Given the description of an element on the screen output the (x, y) to click on. 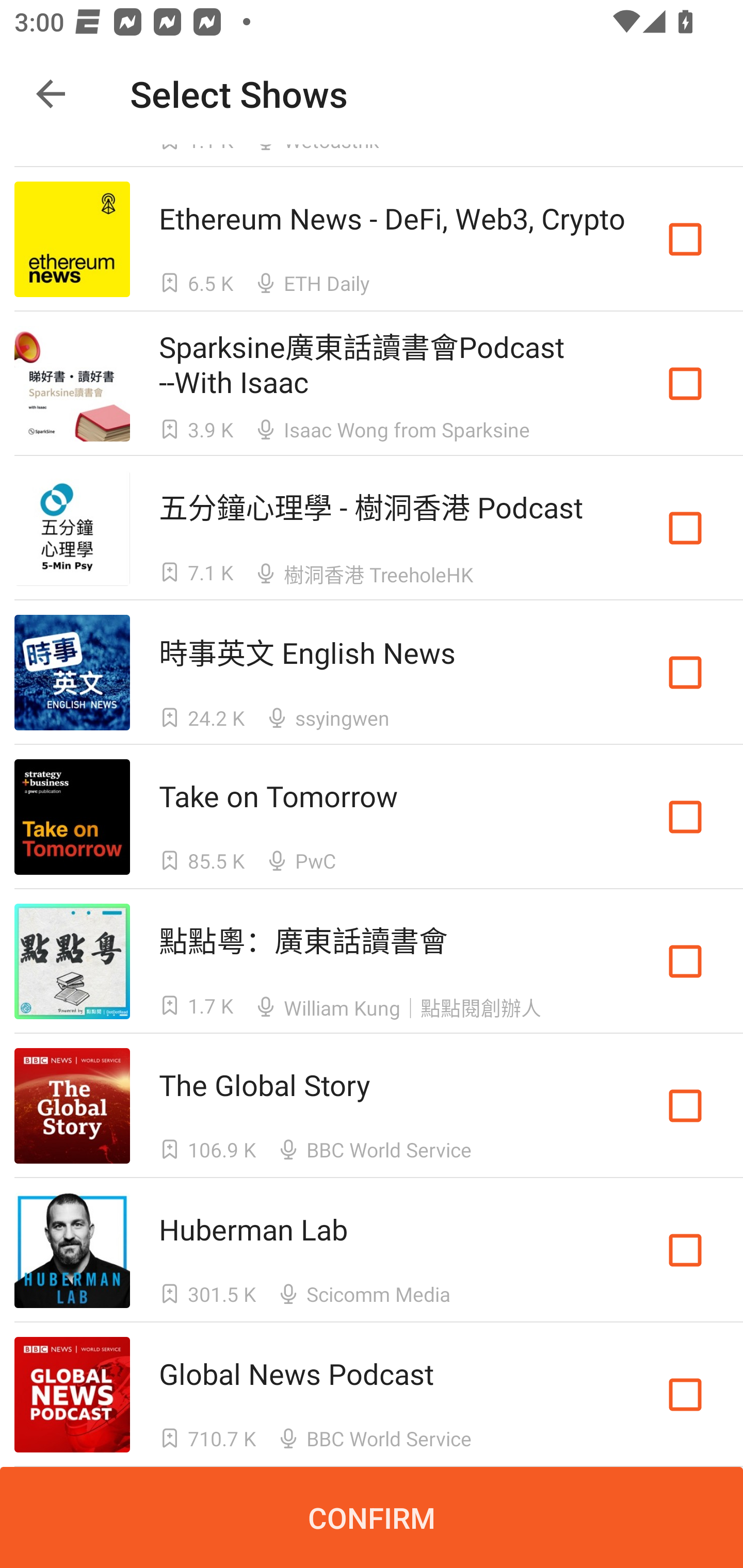
Navigate up (50, 93)
Take on Tomorrow Take on Tomorrow  85.5 K  PwC (371, 816)
CONFIRM (371, 1517)
